Given the description of an element on the screen output the (x, y) to click on. 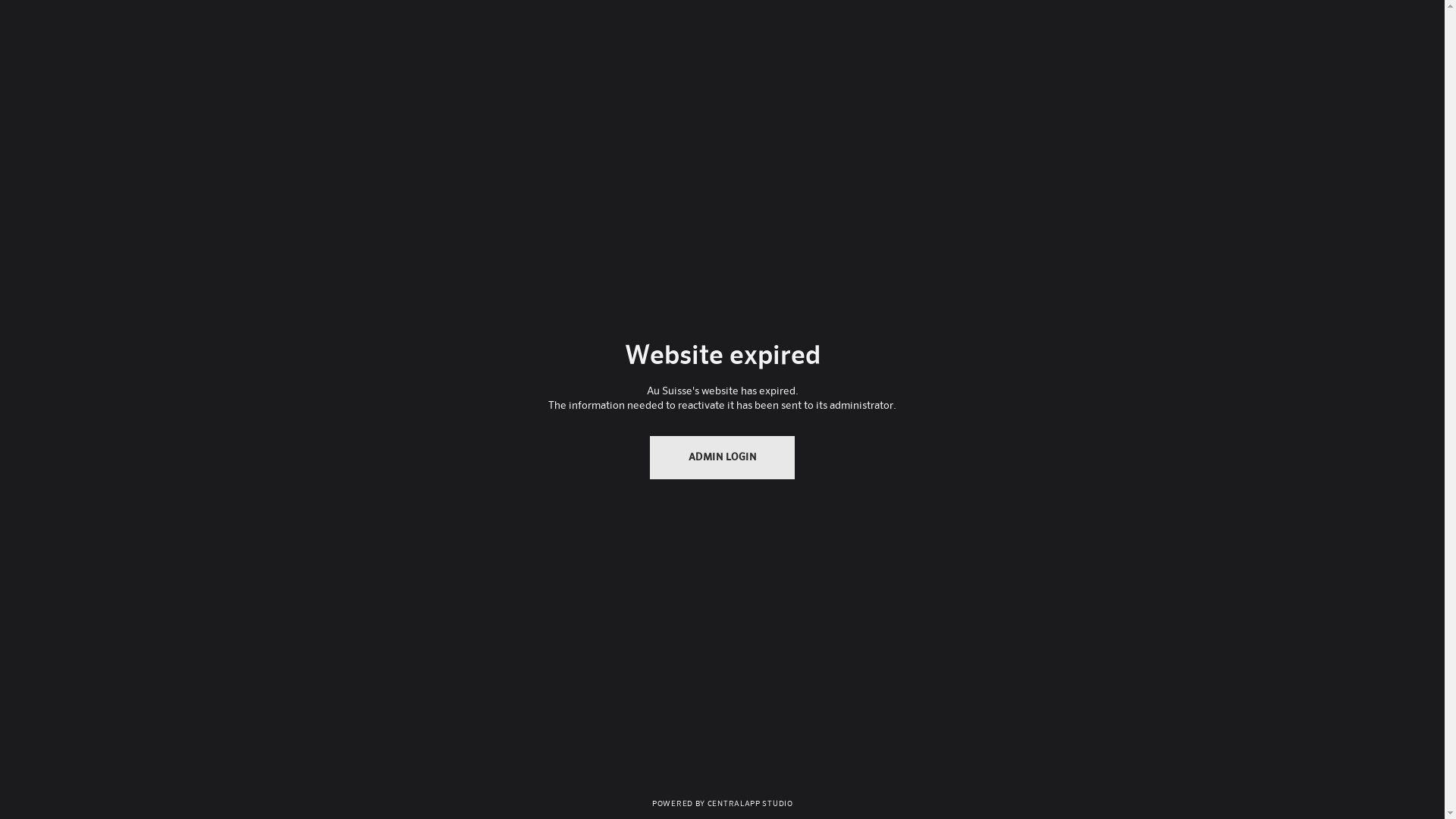
ADMIN LOGIN Element type: text (722, 457)
Powered by Centralapp Studio Element type: text (721, 802)
